Given the description of an element on the screen output the (x, y) to click on. 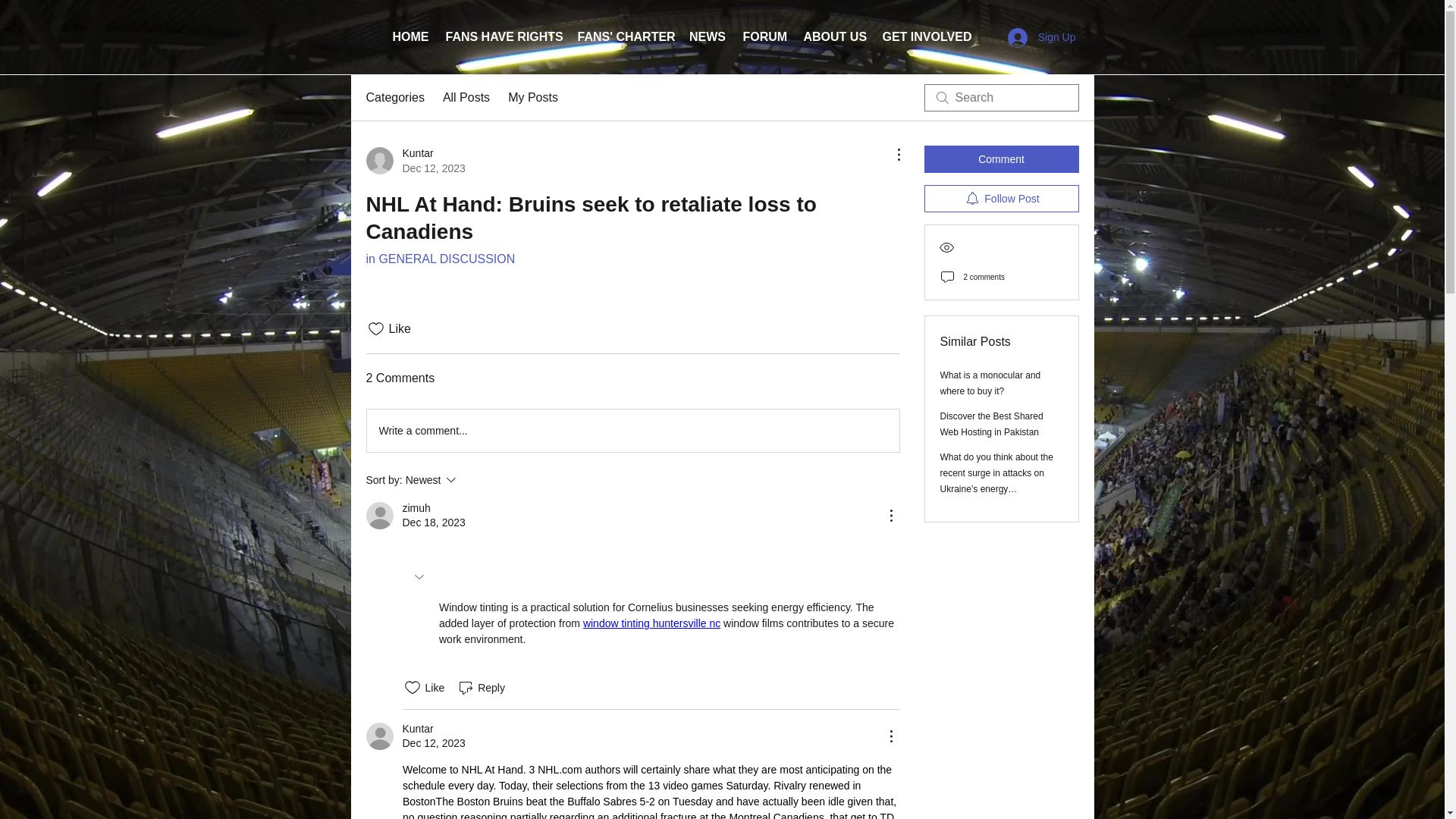
Kuntar (416, 728)
FORUM (763, 36)
zimuh (415, 508)
Follow Post (1000, 198)
NEWS (708, 36)
NHL.com (558, 769)
Comment (1000, 158)
My Posts (532, 97)
Discover the Best Shared Web Hosting in Pakistan (414, 160)
GET INVOLVED (991, 424)
All Posts (925, 36)
Categories (465, 97)
Sign Up (394, 97)
Reply (1041, 36)
